Given the description of an element on the screen output the (x, y) to click on. 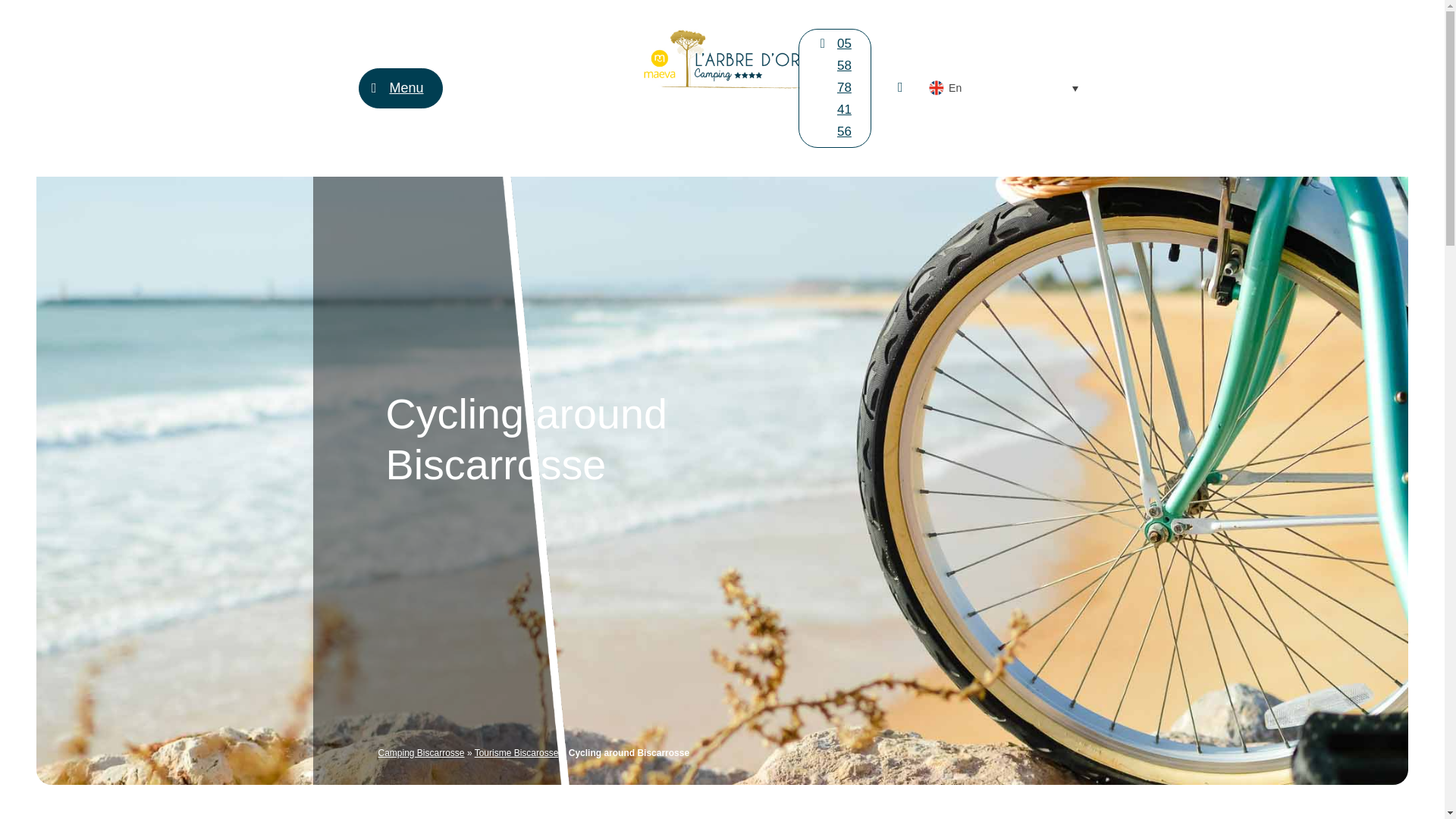
Menu (400, 87)
Balades A Velo Autour De Biscarrosse (900, 97)
En (1003, 87)
Logos Maeva Arbre Dor Mobile (721, 58)
